Given the description of an element on the screen output the (x, y) to click on. 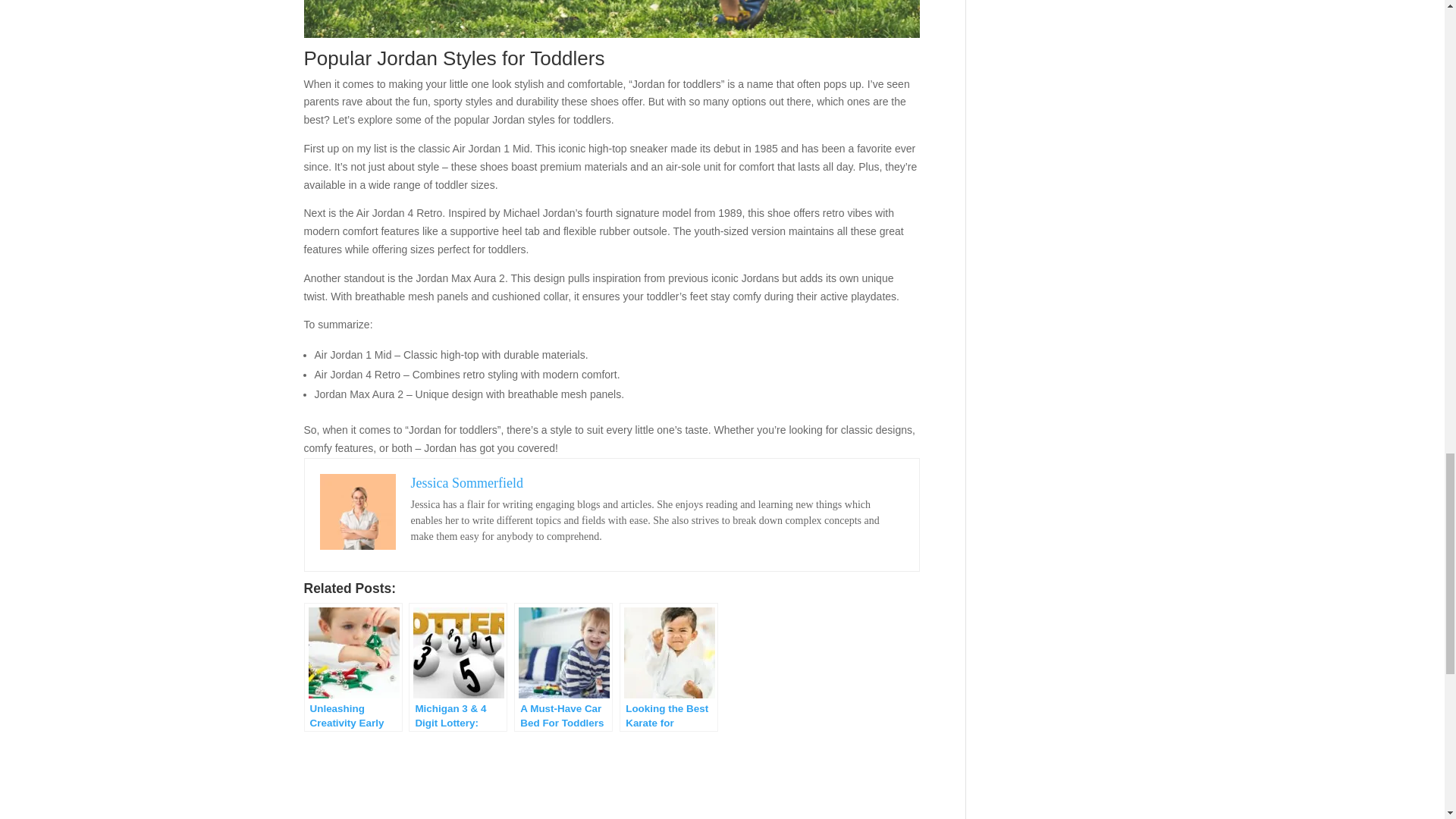
A Must-Have Car Bed For Toddlers (562, 667)
Looking the Best Karate for Toddlers Near Me (668, 667)
Jessica Sommerfield (466, 482)
A Must-Have Car Bed For Toddlers (562, 667)
Looking the Best Karate for Toddlers Near Me (668, 667)
